Given the description of an element on the screen output the (x, y) to click on. 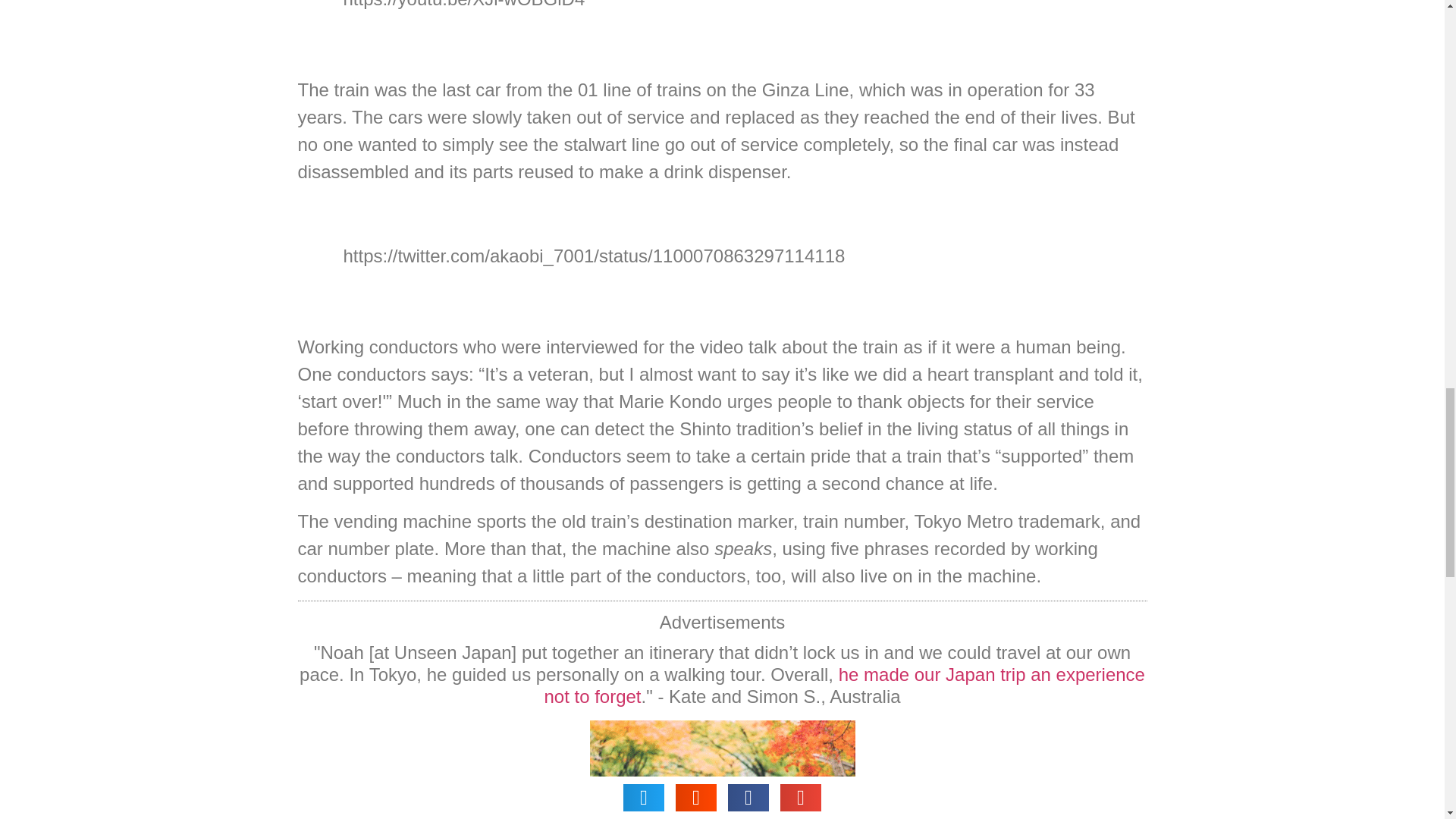
he made our Japan trip an experience not to forget (843, 685)
